Given the description of an element on the screen output the (x, y) to click on. 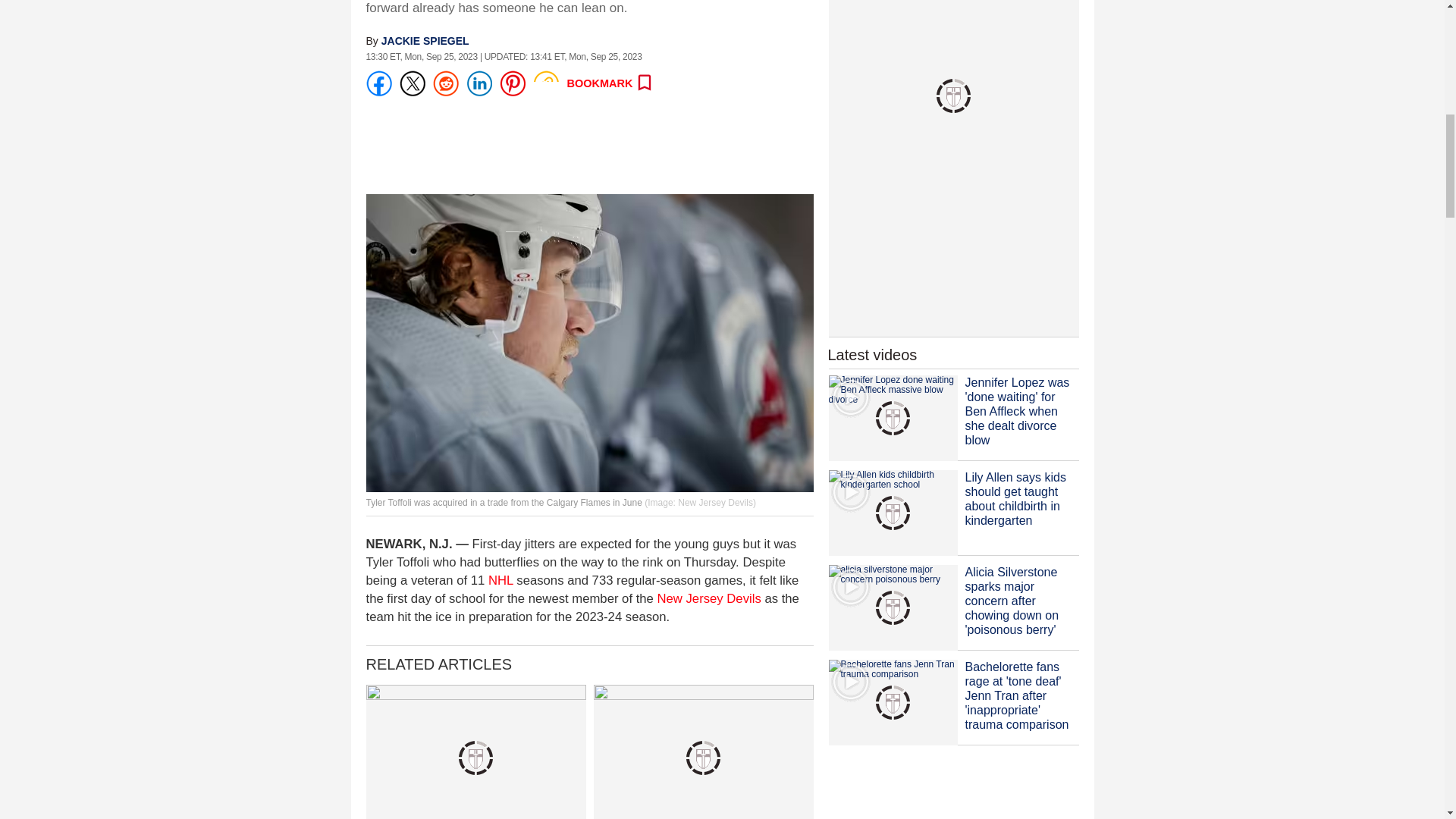
Share on Facebook (378, 83)
alicia silverstone major concern poisonous berry  (892, 607)
Share on Reddit (445, 83)
Jennifer Lopez done waiting Ben Affleck massive blow divorce (892, 418)
NHL (500, 580)
Share on Pinterest (511, 83)
Copy link (544, 83)
New Jersey Devils (707, 598)
Share on LinkedIn (478, 83)
